Given the description of an element on the screen output the (x, y) to click on. 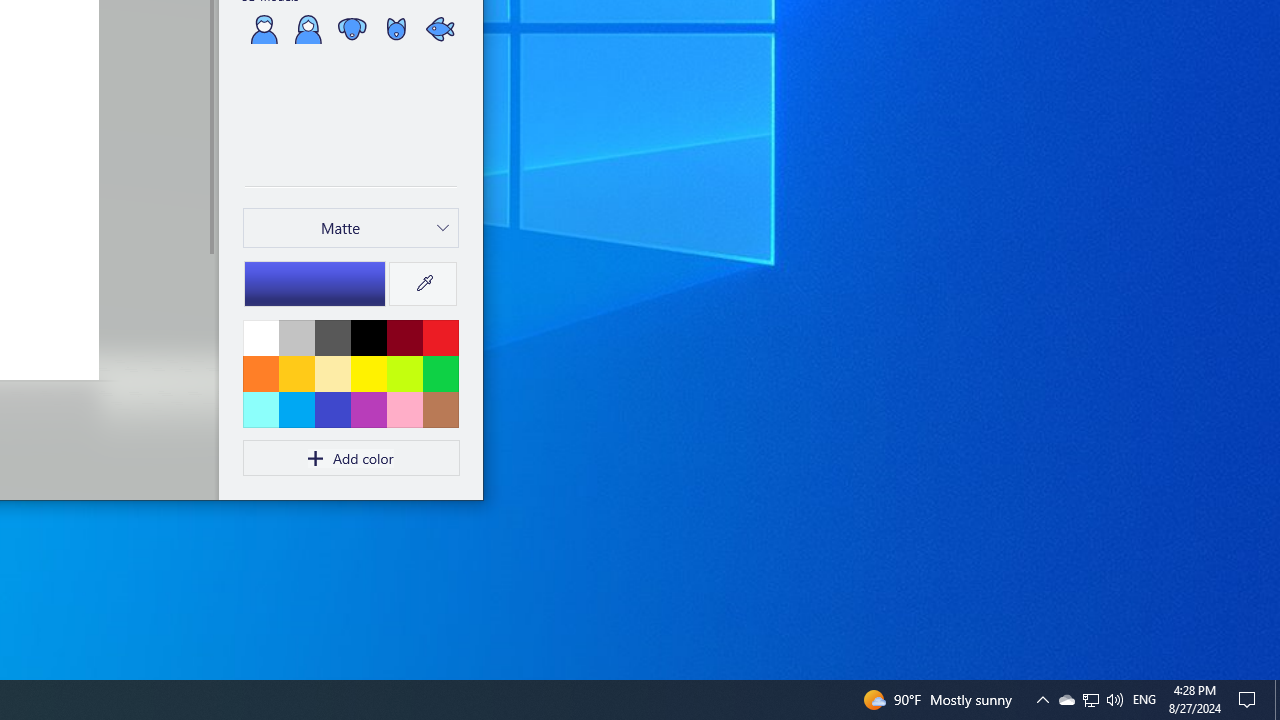
Current color: (315, 283)
Choose a material (351, 227)
Pink (368, 409)
Aqua (261, 409)
Black (368, 337)
Vertical Large Increase (210, 369)
Dark grey (332, 337)
Man (264, 28)
Matte (340, 228)
Light grey (296, 337)
Eyedropper (422, 284)
Rose (404, 409)
